Given the description of an element on the screen output the (x, y) to click on. 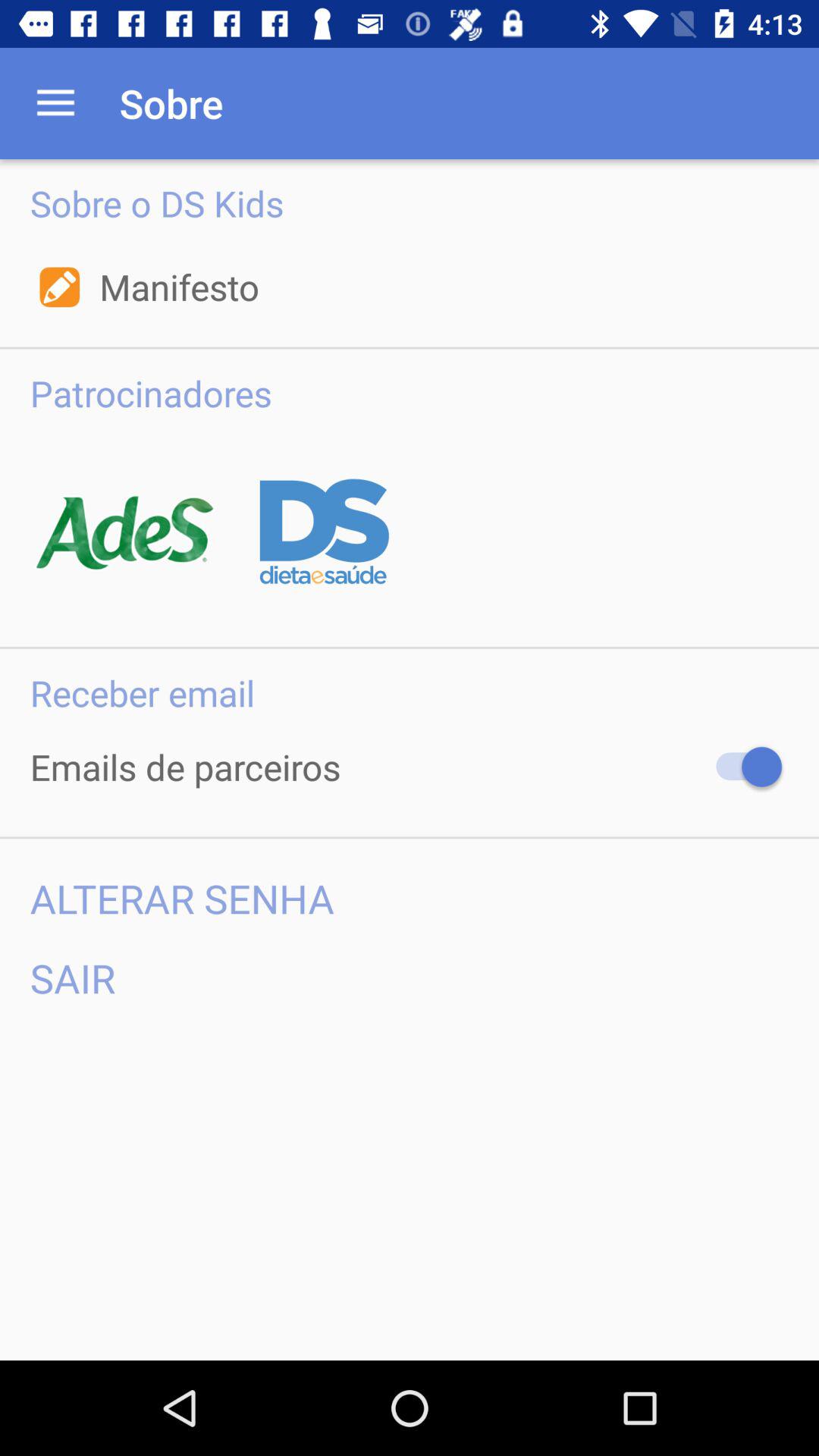
press app next to the emails de parceiros app (741, 766)
